Given the description of an element on the screen output the (x, y) to click on. 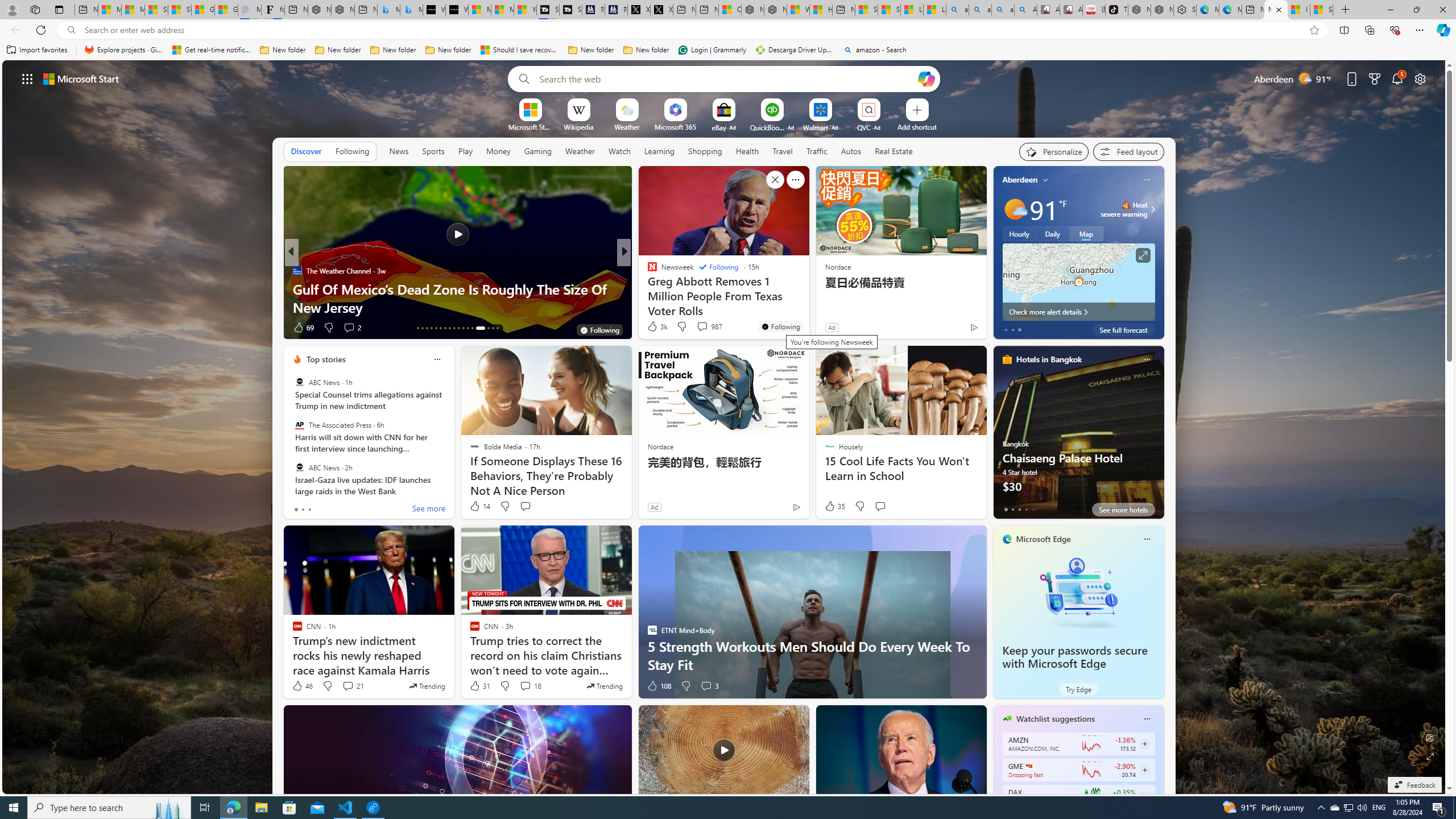
Wikipedia (578, 126)
3k Like (656, 326)
Notifications (1397, 78)
Money (497, 151)
View comments 174 Comment (6, 327)
AutomationID: tab-20 (449, 328)
Page settings (1420, 78)
Settings (1185, 9)
AutomationID: tab-23 (462, 328)
Microsoft start (81, 78)
AutomationID: tab-17 (435, 328)
